Given the description of an element on the screen output the (x, y) to click on. 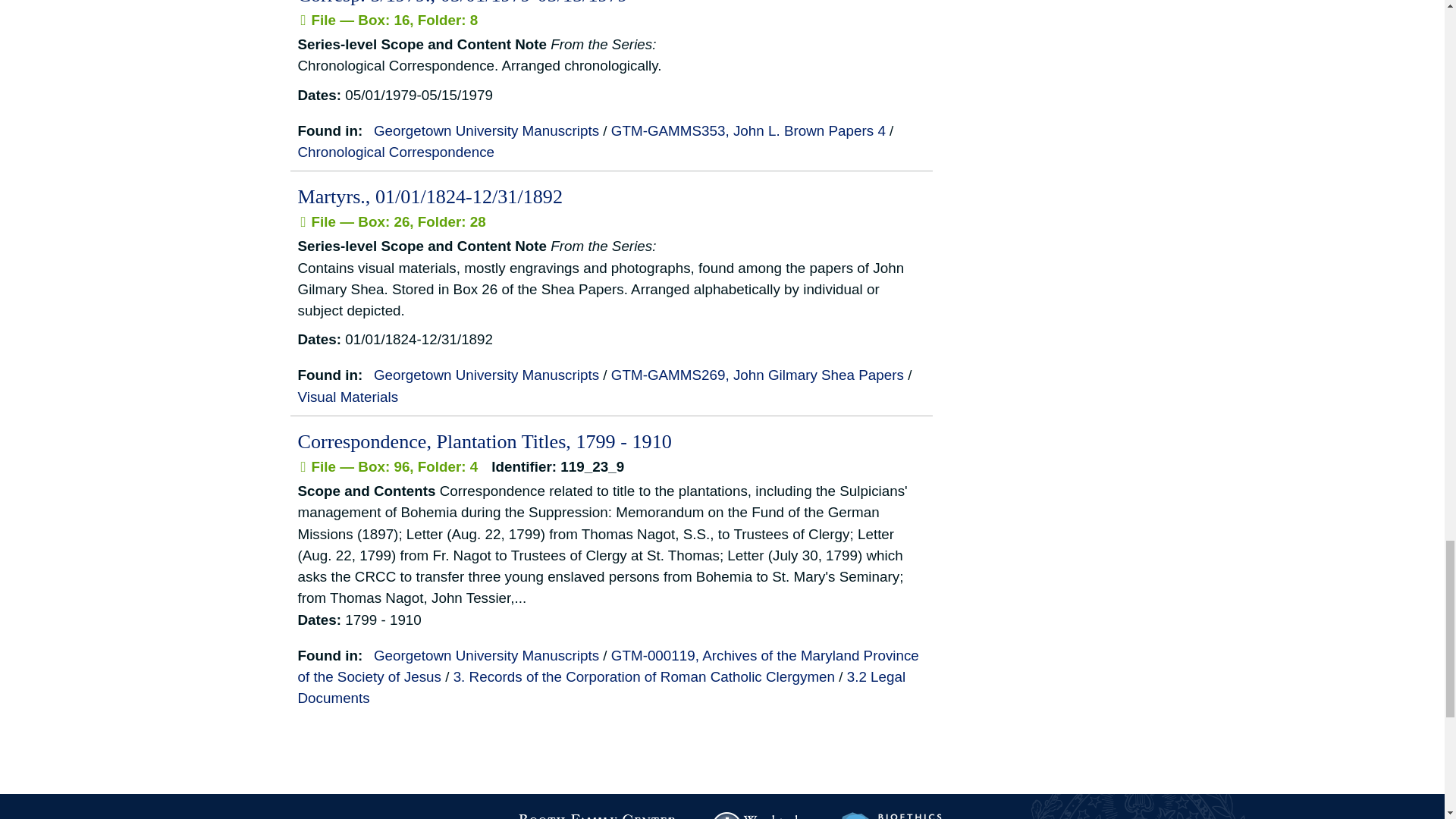
translation missing: en.dates (316, 94)
translation missing: en.dates (316, 619)
translation missing: en.dates (316, 339)
